Given the description of an element on the screen output the (x, y) to click on. 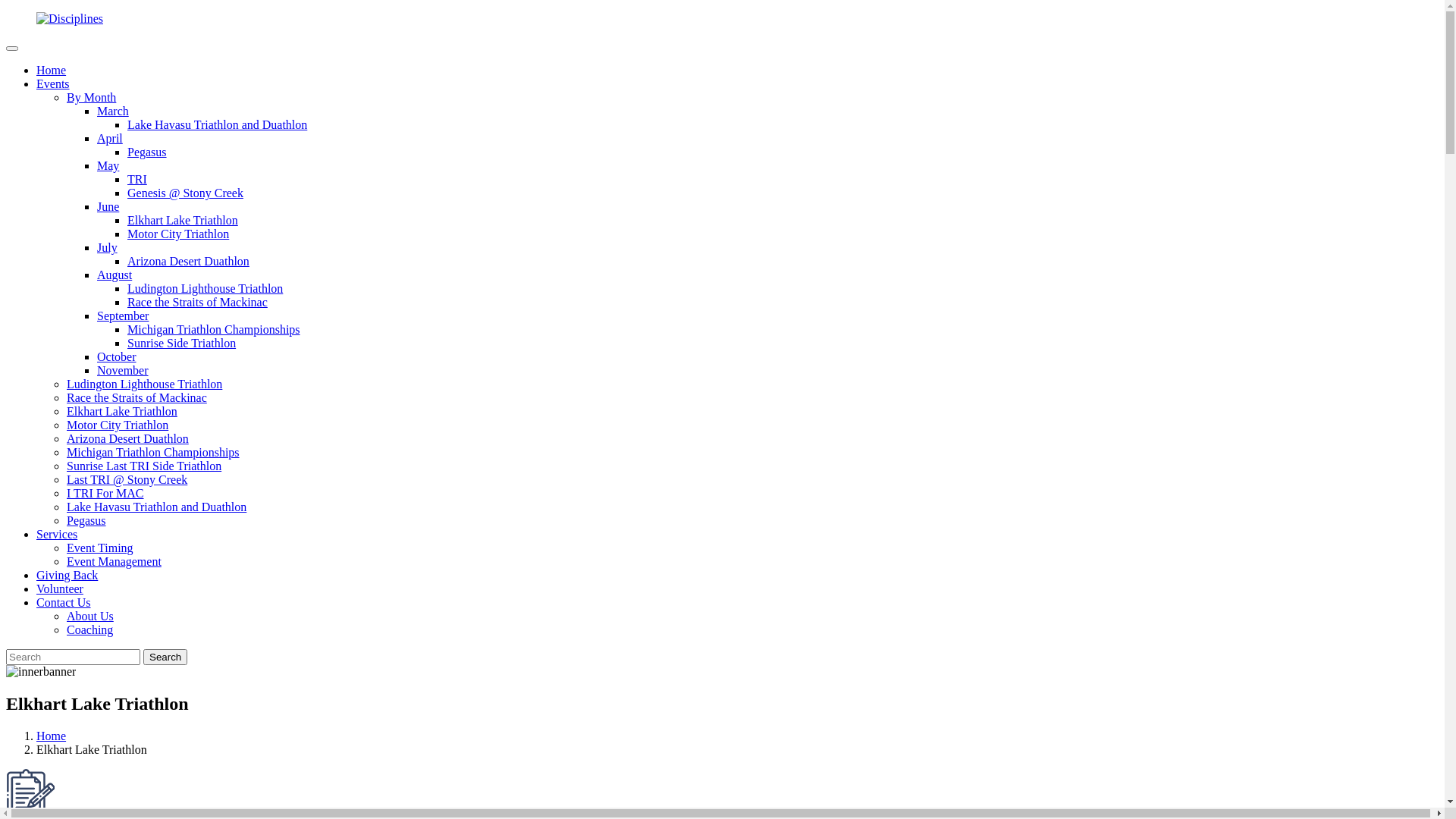
June Element type: text (108, 206)
About Us Element type: text (89, 615)
Contact Us Element type: text (63, 602)
Ludington Lighthouse Triathlon Element type: text (204, 288)
Search Element type: text (165, 657)
Event Management Element type: text (113, 561)
April Element type: text (109, 137)
Lake Havasu Triathlon and Duathlon Element type: text (156, 506)
August Element type: text (114, 274)
Race the Straits of Mackinac Element type: text (136, 397)
TRI Element type: text (137, 178)
Motor City Triathlon Element type: text (117, 424)
Race the Straits of Mackinac Element type: text (197, 301)
By Month Element type: text (91, 97)
Event Timing Element type: text (99, 547)
Volunteer Element type: text (59, 588)
Lake Havasu Triathlon and Duathlon Element type: text (217, 124)
Home Element type: text (50, 735)
Michigan Triathlon Championships Element type: text (213, 329)
October Element type: text (116, 356)
Ludington Lighthouse Triathlon Element type: text (144, 383)
Last TRI @ Stony Creek Element type: text (126, 479)
Arizona Desert Duathlon Element type: text (127, 438)
Sunrise Last TRI Side Triathlon Element type: text (143, 465)
Pegasus Element type: text (146, 151)
Home Element type: text (50, 69)
July Element type: text (107, 247)
Arizona Desert Duathlon Element type: text (188, 260)
November Element type: text (122, 370)
Motor City Triathlon Element type: text (178, 233)
Michigan Triathlon Championships Element type: text (152, 451)
May Element type: text (108, 165)
Giving Back Element type: text (66, 574)
I TRI For MAC Element type: text (105, 492)
March Element type: text (112, 110)
Events Element type: text (52, 83)
Genesis @ Stony Creek Element type: text (185, 192)
Pegasus Element type: text (86, 520)
Coaching Element type: text (89, 629)
Sunrise Side Triathlon Element type: text (181, 342)
Elkhart Lake Triathlon Element type: text (121, 410)
Elkhart Lake Triathlon Element type: text (182, 219)
September Element type: text (122, 315)
Services Element type: text (56, 533)
